Given the description of an element on the screen output the (x, y) to click on. 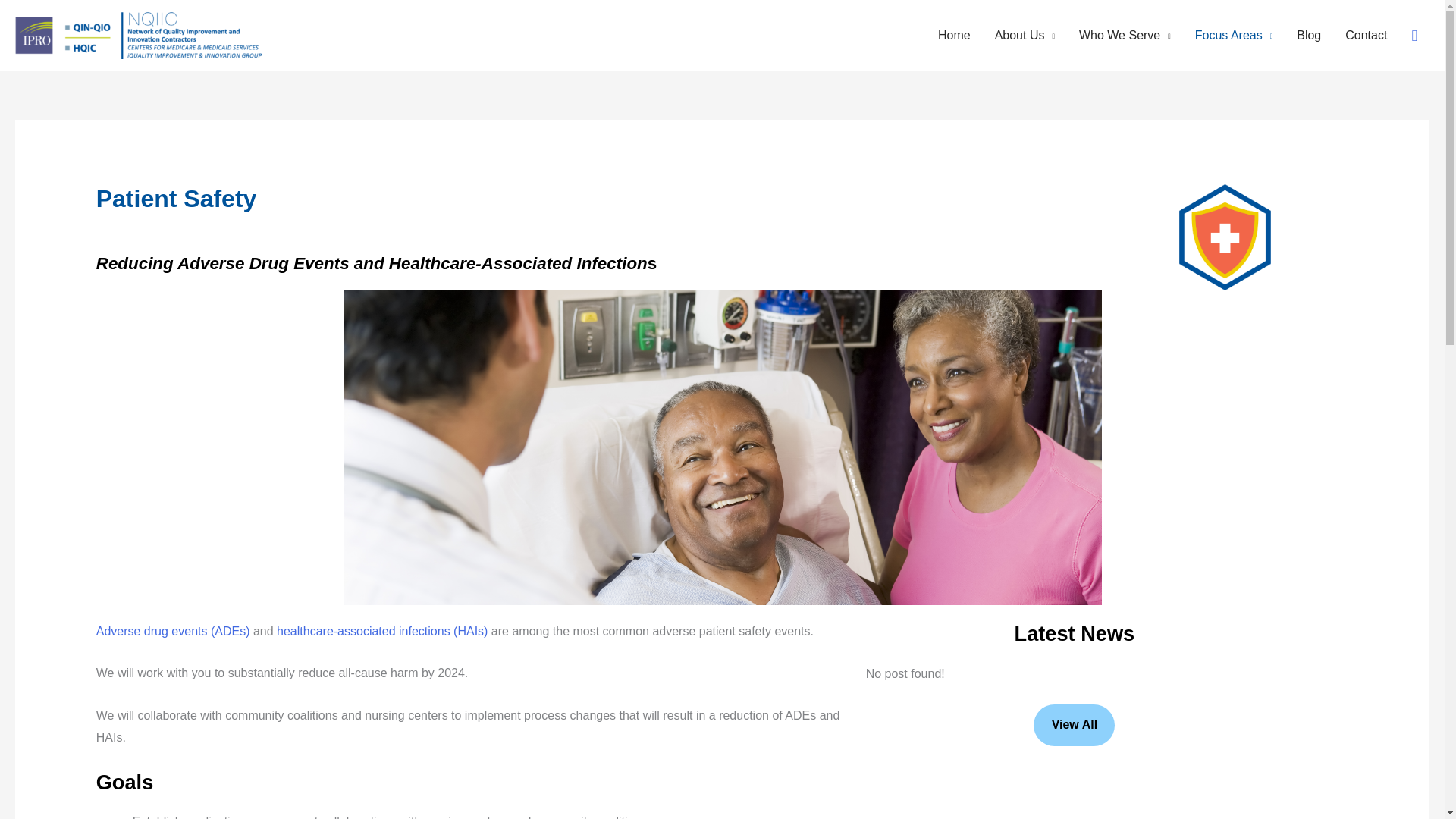
Contact (1366, 35)
View All (1074, 725)
Home (954, 35)
Blog (1308, 35)
Who We Serve (1124, 35)
Focus Areas (1233, 35)
About Us (1024, 35)
